Given the description of an element on the screen output the (x, y) to click on. 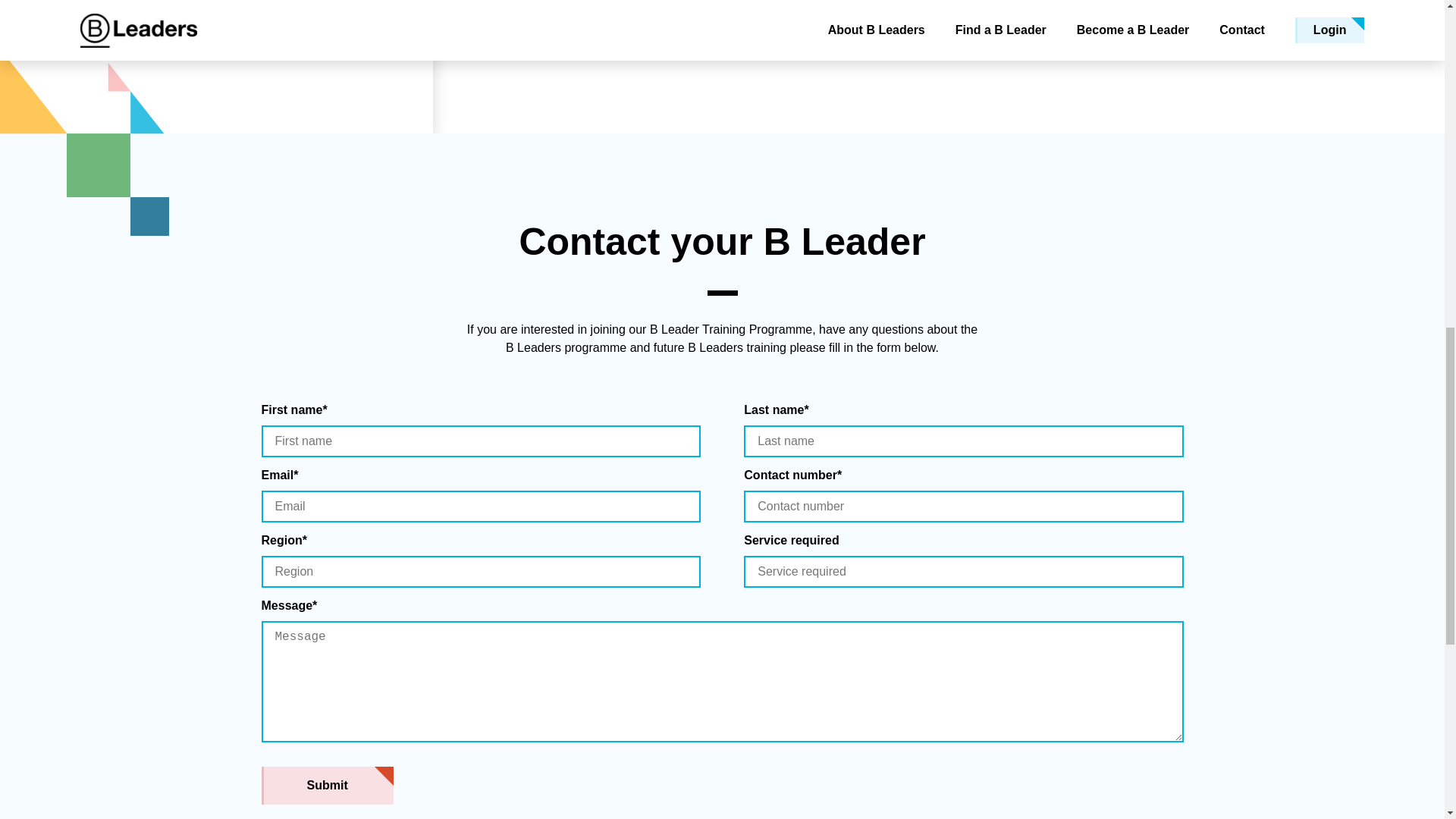
Submit (326, 785)
